Given the description of an element on the screen output the (x, y) to click on. 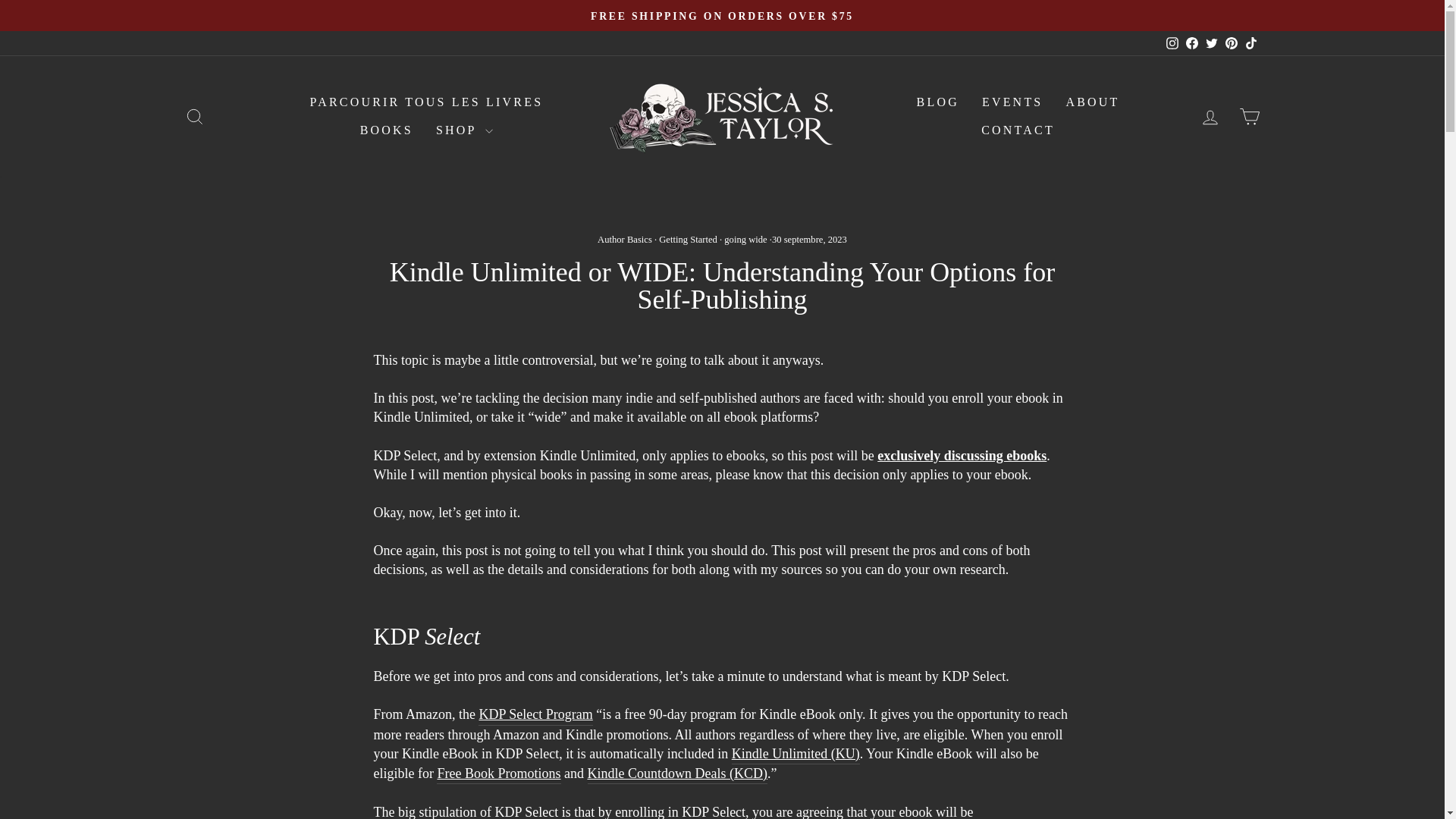
BOOKS (387, 130)
PARCOURIR TOUS LES LIVRES (194, 115)
ICON-SEARCH (426, 101)
twitter (194, 116)
instagram (1211, 42)
ACCOUNT (1171, 42)
